Given the description of an element on the screen output the (x, y) to click on. 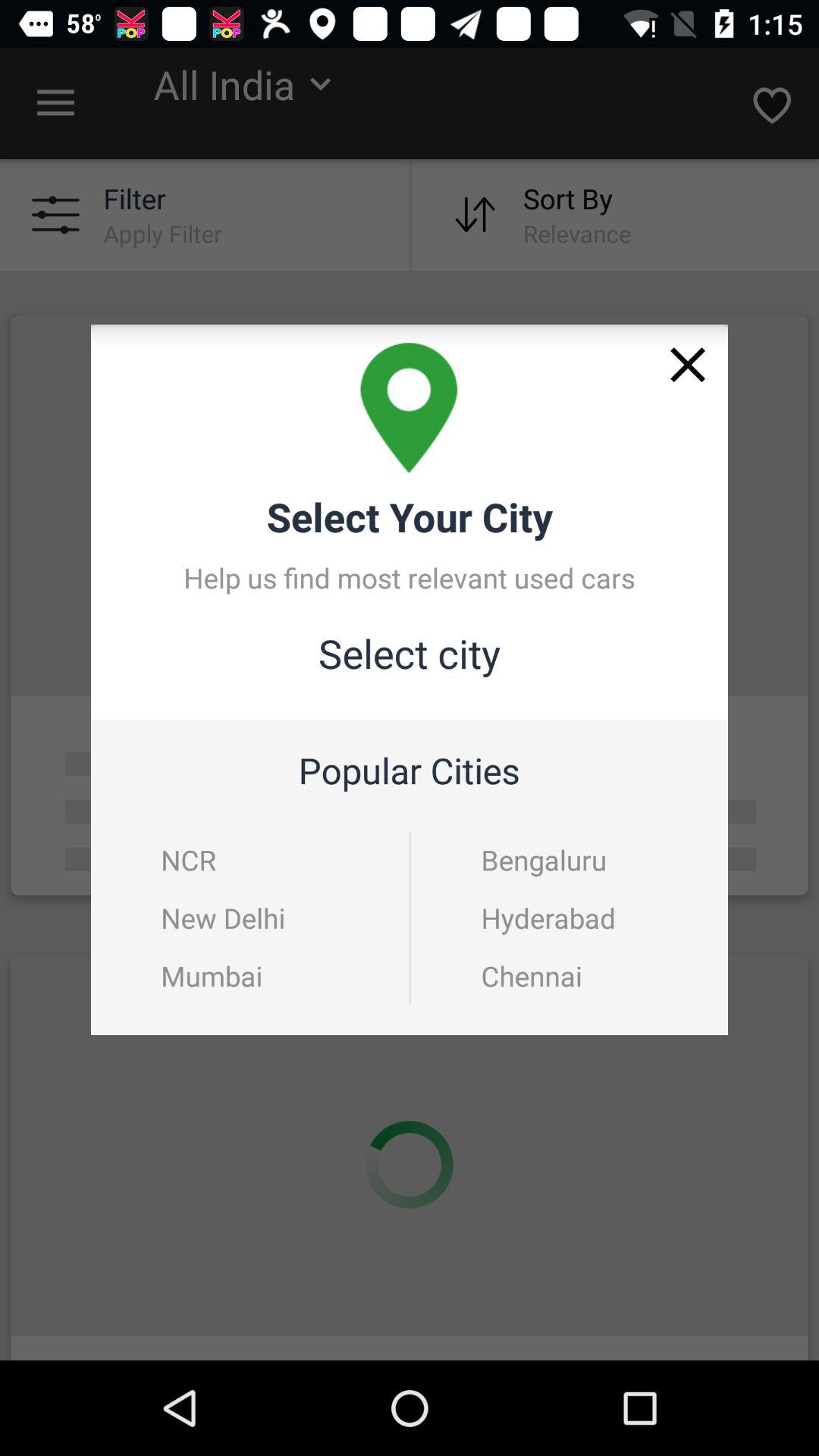
launch the item above new delhi icon (188, 859)
